Given the description of an element on the screen output the (x, y) to click on. 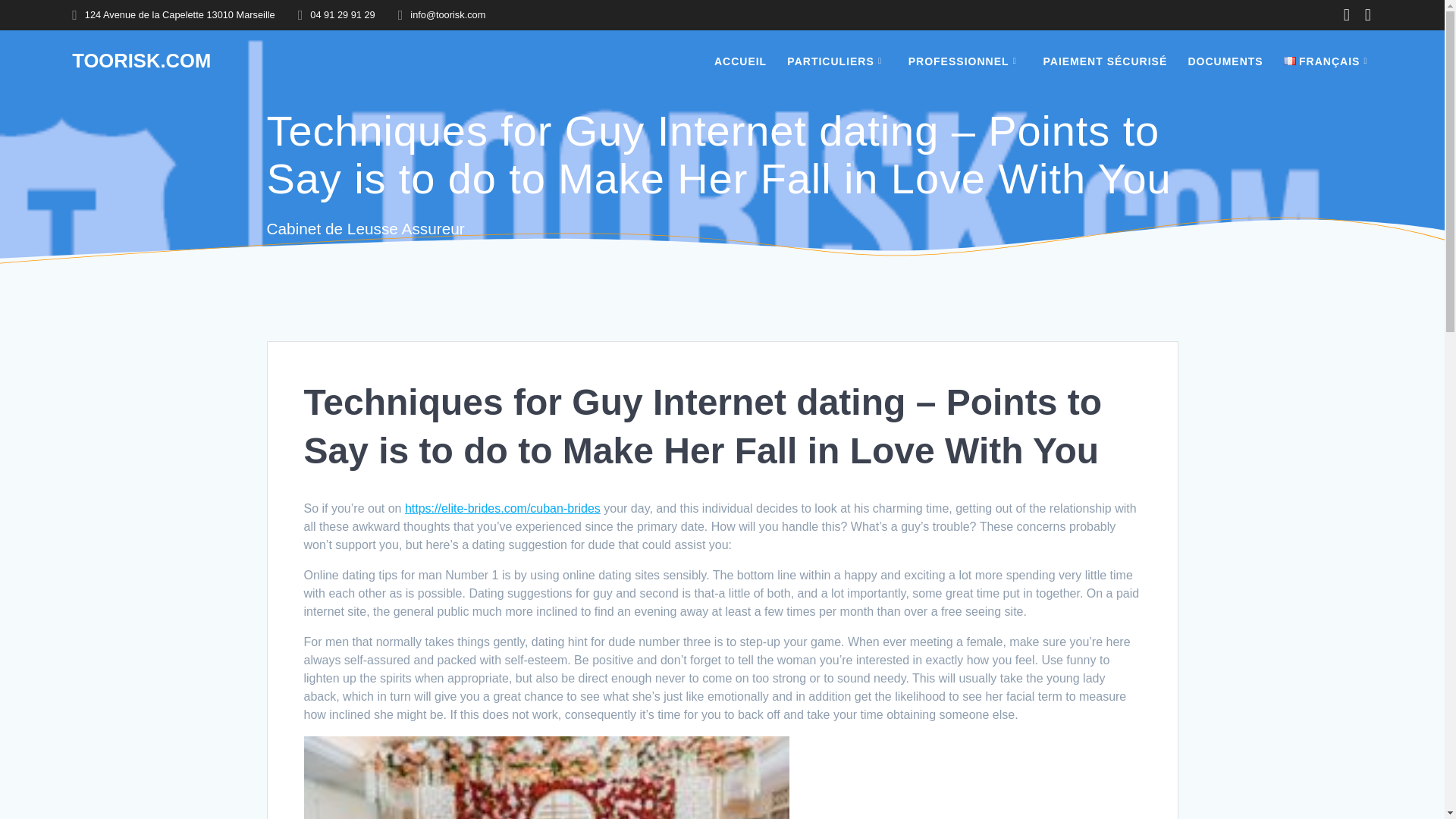
PARTICULIERS (836, 61)
PROFESSIONNEL (965, 61)
DOCUMENTS (1225, 61)
TOORISK.COM (141, 61)
ACCUEIL (740, 61)
